Given the description of an element on the screen output the (x, y) to click on. 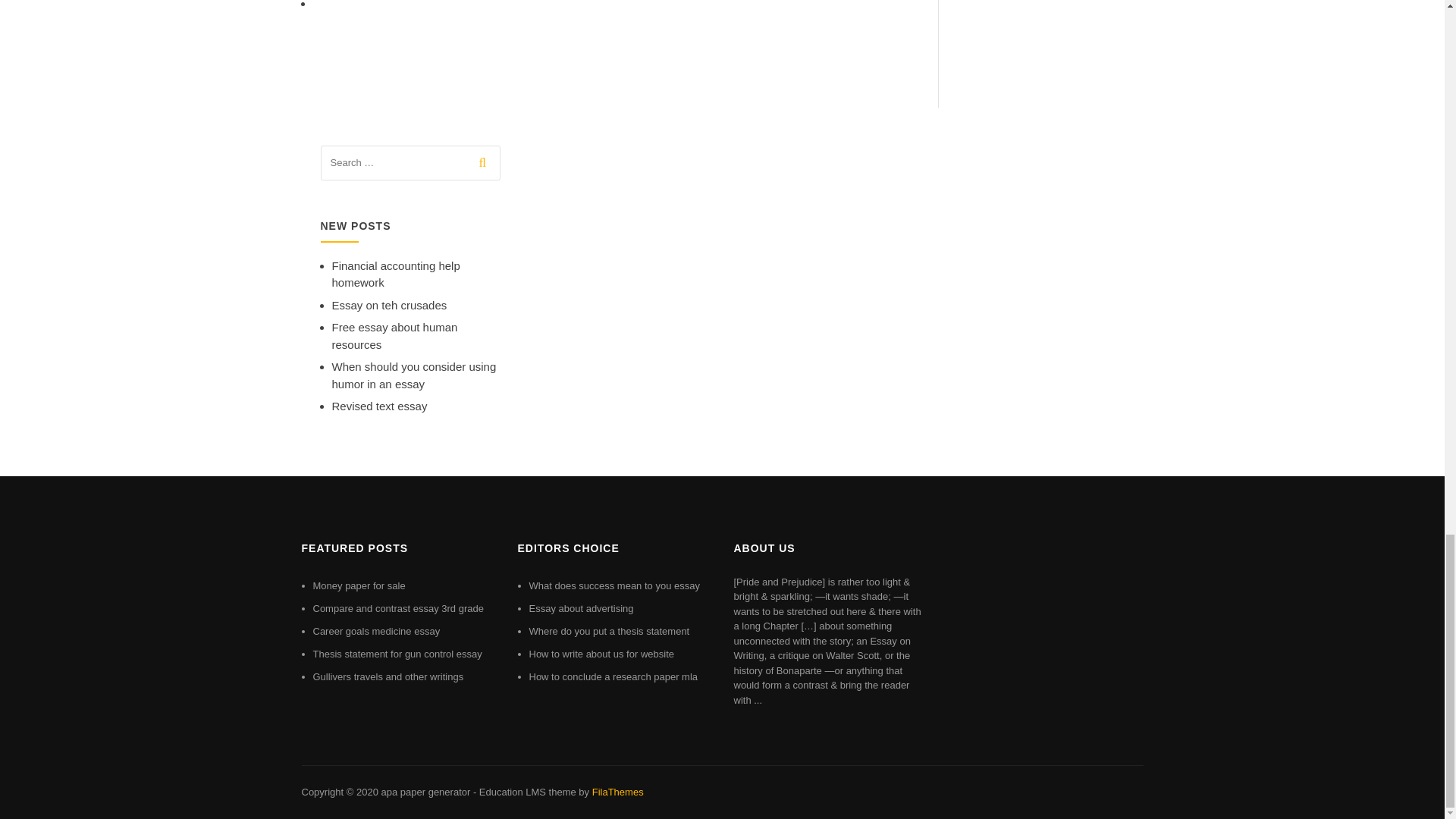
How to write about us for website (601, 654)
Essay on teh crusades (388, 305)
Revised text essay (379, 405)
What does success mean to you essay (614, 585)
Gullivers travels and other writings (388, 676)
Where do you put a thesis statement (609, 631)
Money paper for sale (358, 585)
Thesis statement for gun control essay (397, 654)
Career goals medicine essay (376, 631)
Free essay about human resources (394, 336)
